Given the description of an element on the screen output the (x, y) to click on. 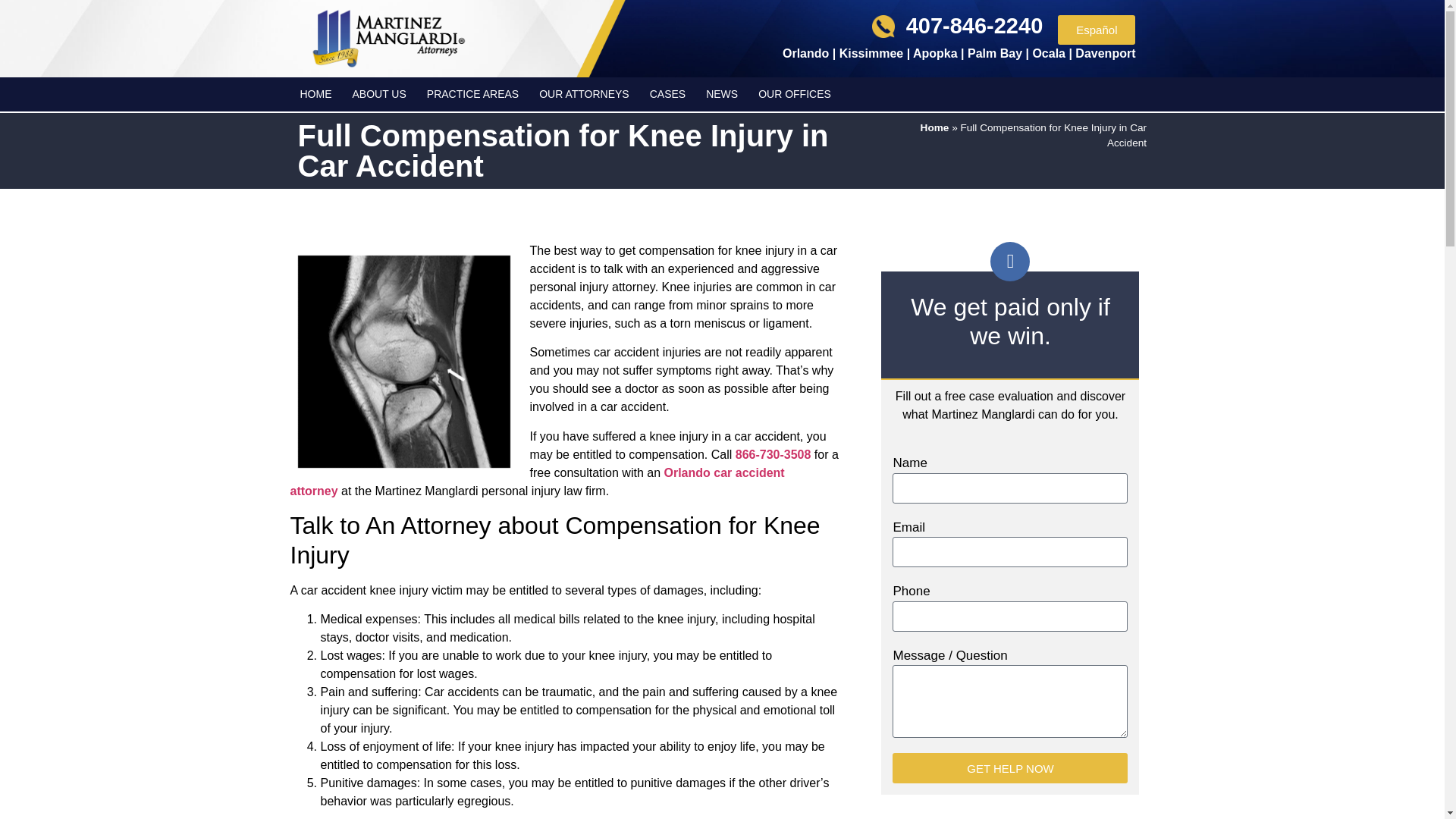
HOME (314, 93)
407-846-2240 (974, 25)
ABOUT US (379, 93)
PRACTICE AREAS (472, 93)
OUR ATTORNEYS (584, 93)
